Given the description of an element on the screen output the (x, y) to click on. 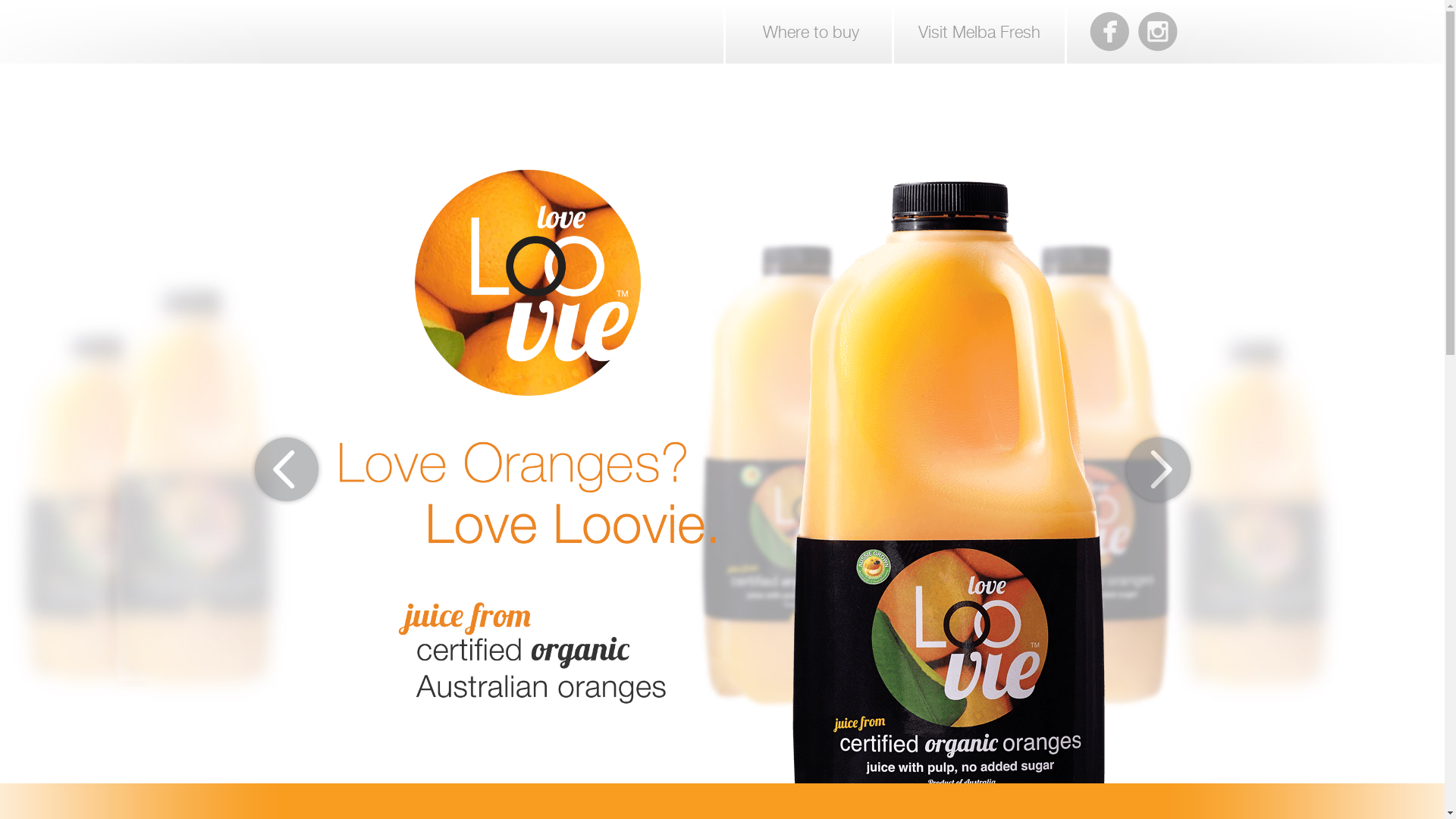
Where to buy Element type: text (809, 31)
Join us on Instagram Element type: text (1157, 31)
Visit Melba Fresh Element type: text (978, 31)
Like us on Facebook Element type: text (1108, 31)
